Given the description of an element on the screen output the (x, y) to click on. 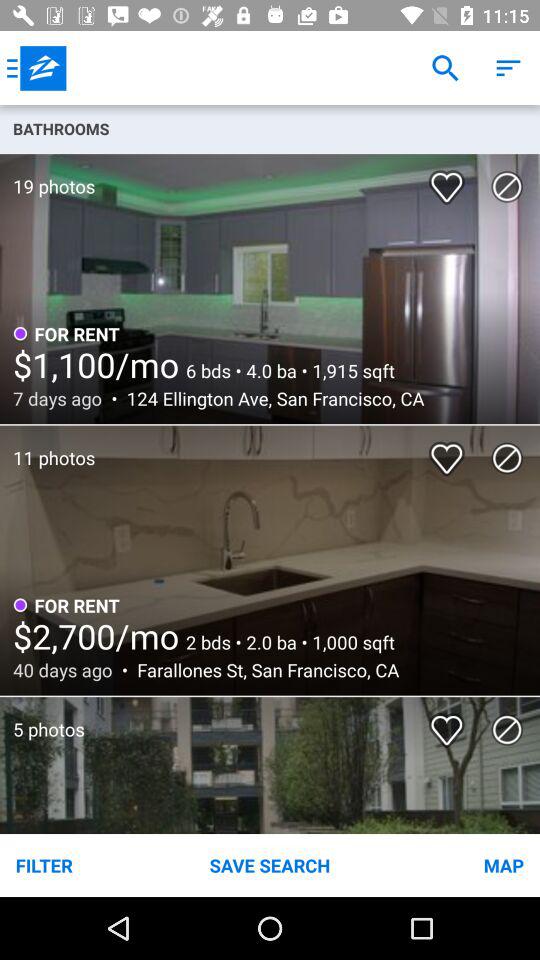
turn off 11 photos item (47, 447)
